Given the description of an element on the screen output the (x, y) to click on. 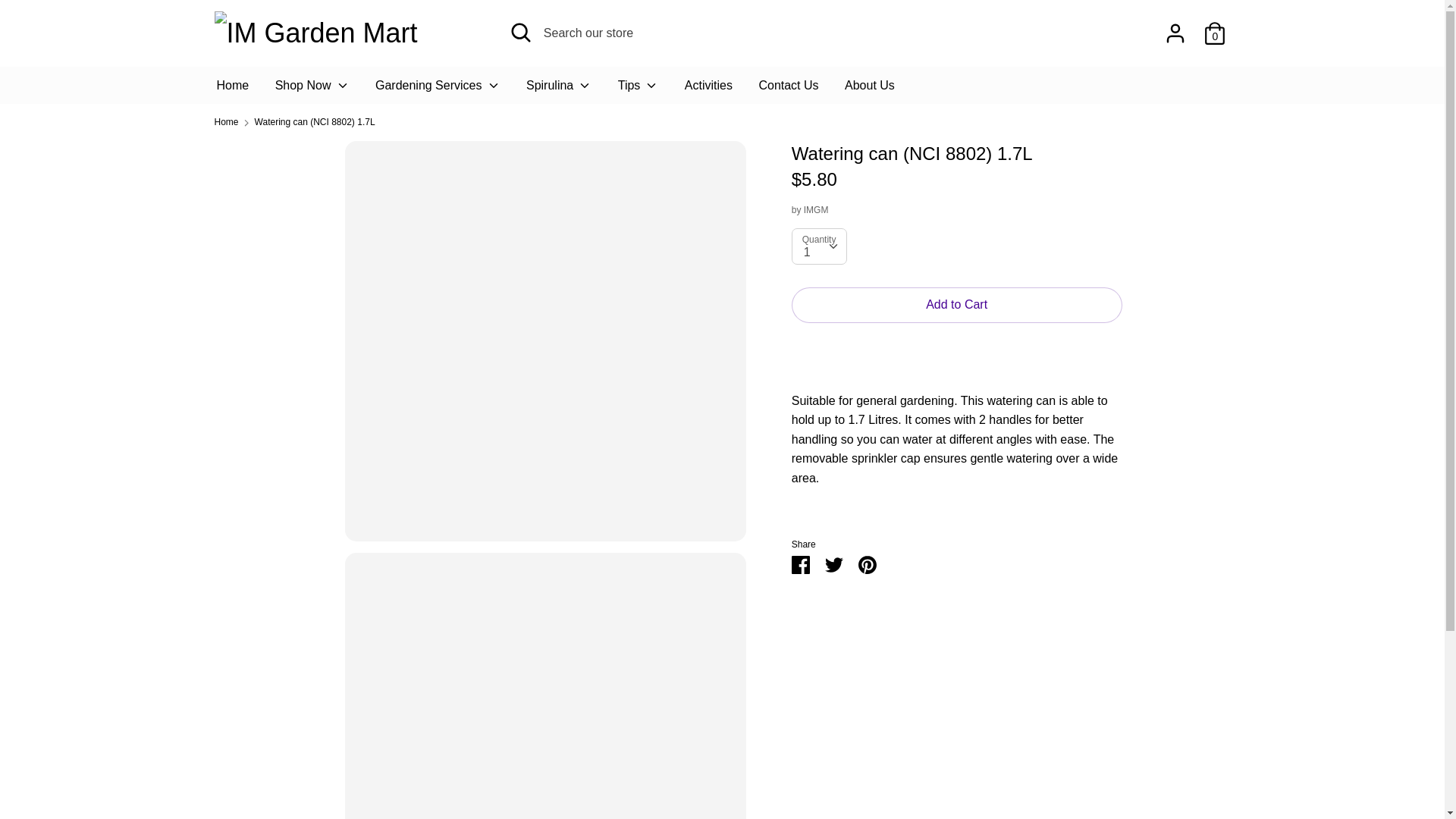
American Express (1011, 769)
Apple Pay (1044, 769)
0 (1214, 27)
Google Pay (1079, 769)
Mastercard (1112, 769)
